Given the description of an element on the screen output the (x, y) to click on. 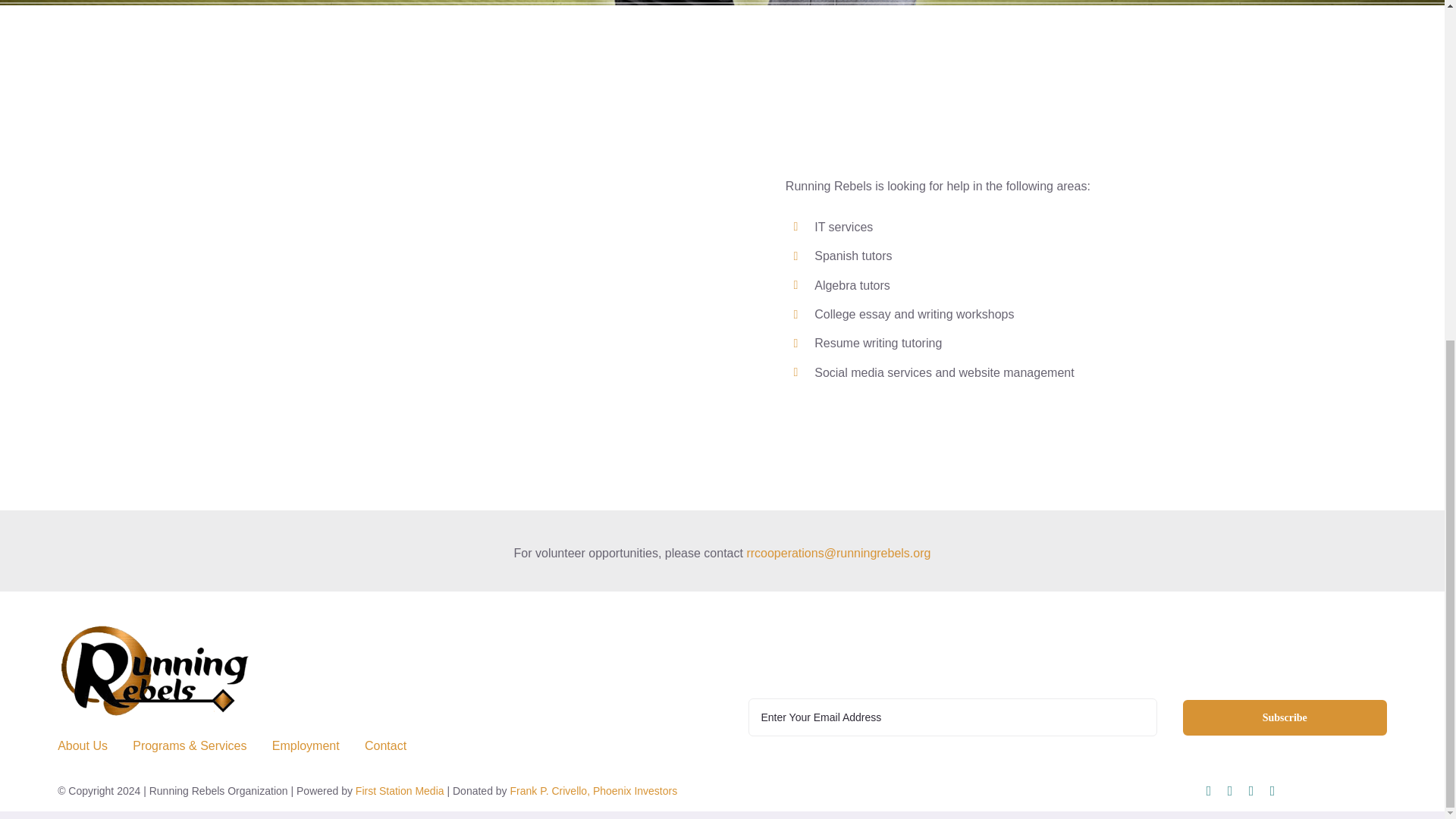
Subscribe (1284, 717)
Running Rebels (1068, 662)
Running Rebels (153, 671)
Running Rebels (1000, 148)
